Given the description of an element on the screen output the (x, y) to click on. 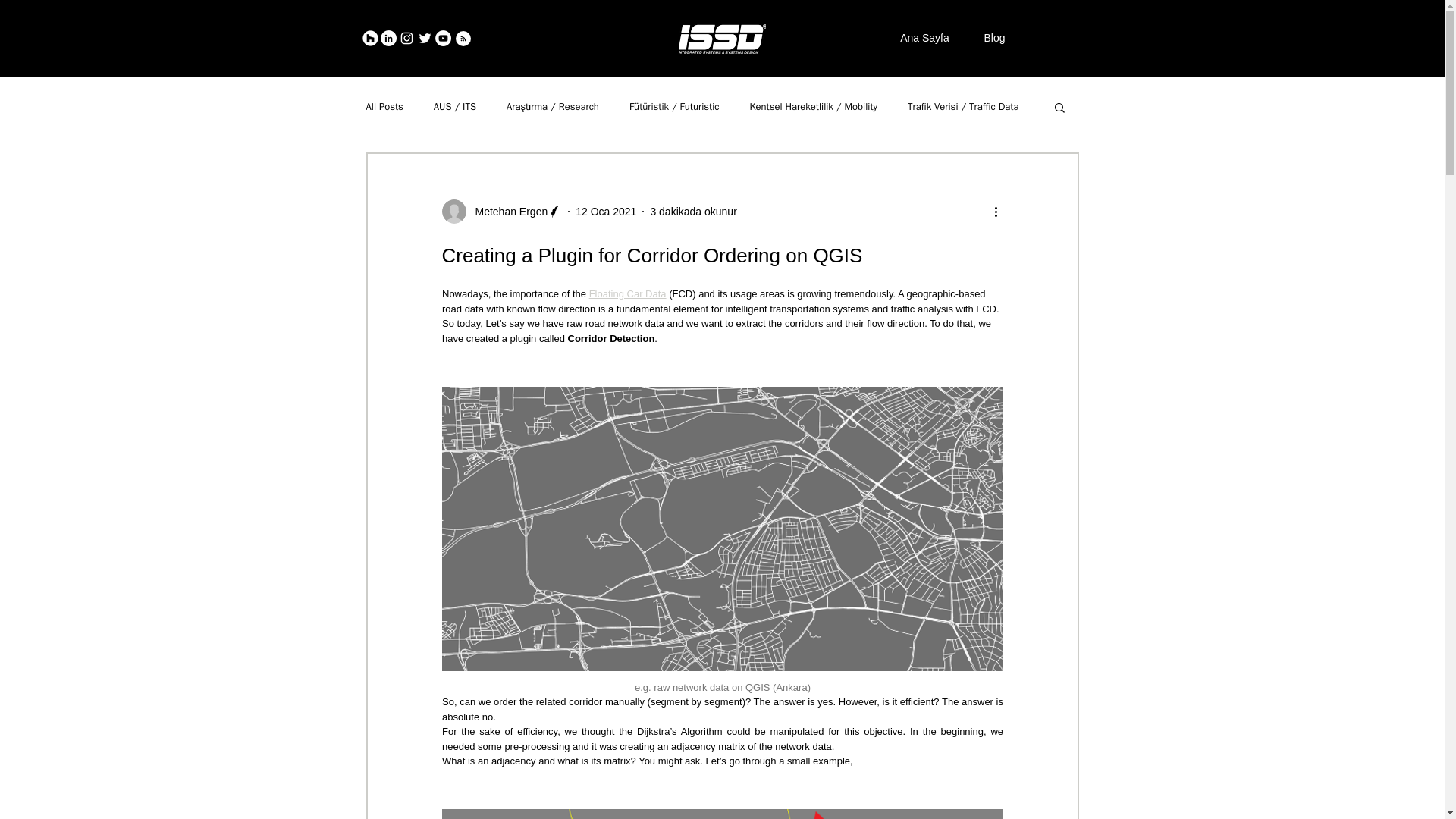
Ana Sayfa (924, 37)
All Posts (384, 106)
Blog (994, 37)
Metehan Ergen (506, 211)
Metehan Ergen (501, 211)
3 dakikada okunur (692, 210)
12 Oca 2021 (605, 210)
Floating Car Data (626, 293)
